Given the description of an element on the screen output the (x, y) to click on. 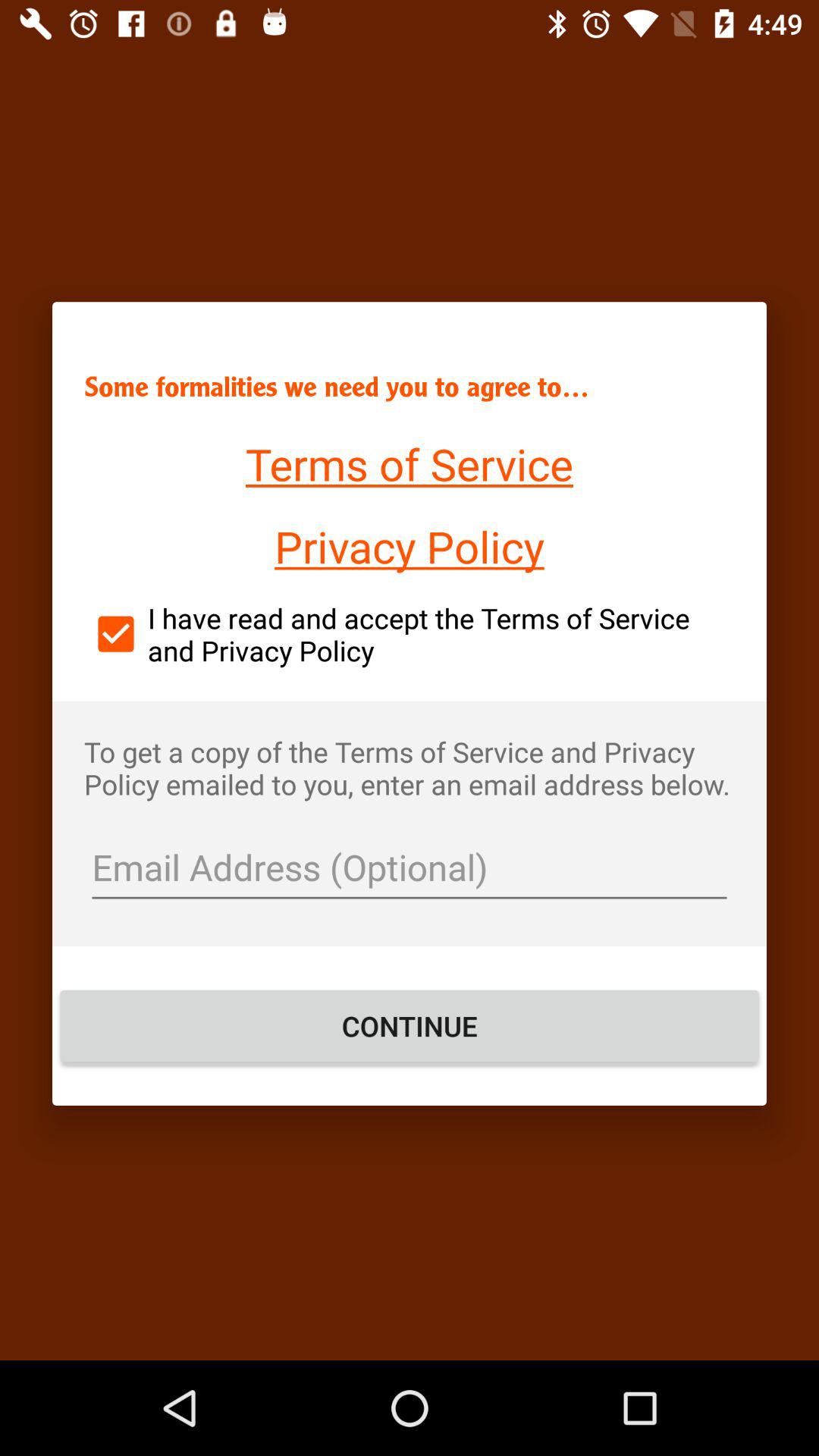
launch the item above the continue (409, 869)
